Given the description of an element on the screen output the (x, y) to click on. 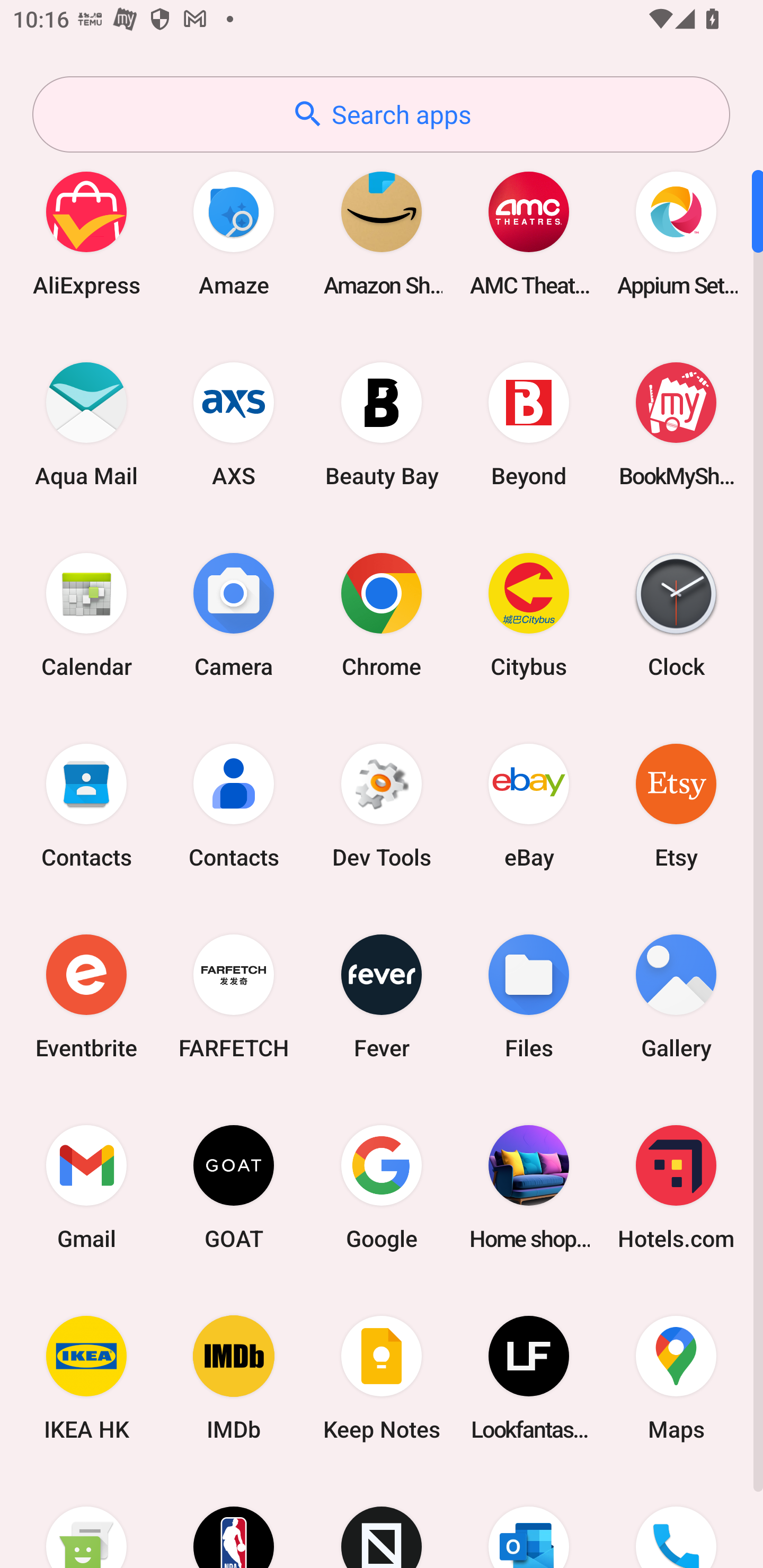
  Search apps (381, 114)
AliExpress (86, 233)
Amaze (233, 233)
Amazon Shopping (381, 233)
AMC Theatres (528, 233)
Appium Settings (676, 233)
Aqua Mail (86, 424)
AXS (233, 424)
Beauty Bay (381, 424)
Beyond (528, 424)
BookMyShow (676, 424)
Calendar (86, 614)
Camera (233, 614)
Chrome (381, 614)
Citybus (528, 614)
Clock (676, 614)
Contacts (86, 805)
Contacts (233, 805)
Dev Tools (381, 805)
eBay (528, 805)
Etsy (676, 805)
Eventbrite (86, 996)
FARFETCH (233, 996)
Fever (381, 996)
Files (528, 996)
Gallery (676, 996)
Gmail (86, 1186)
GOAT (233, 1186)
Google (381, 1186)
Home shopping (528, 1186)
Hotels.com (676, 1186)
IKEA HK (86, 1377)
IMDb (233, 1377)
Keep Notes (381, 1377)
Lookfantastic (528, 1377)
Maps (676, 1377)
